Given the description of an element on the screen output the (x, y) to click on. 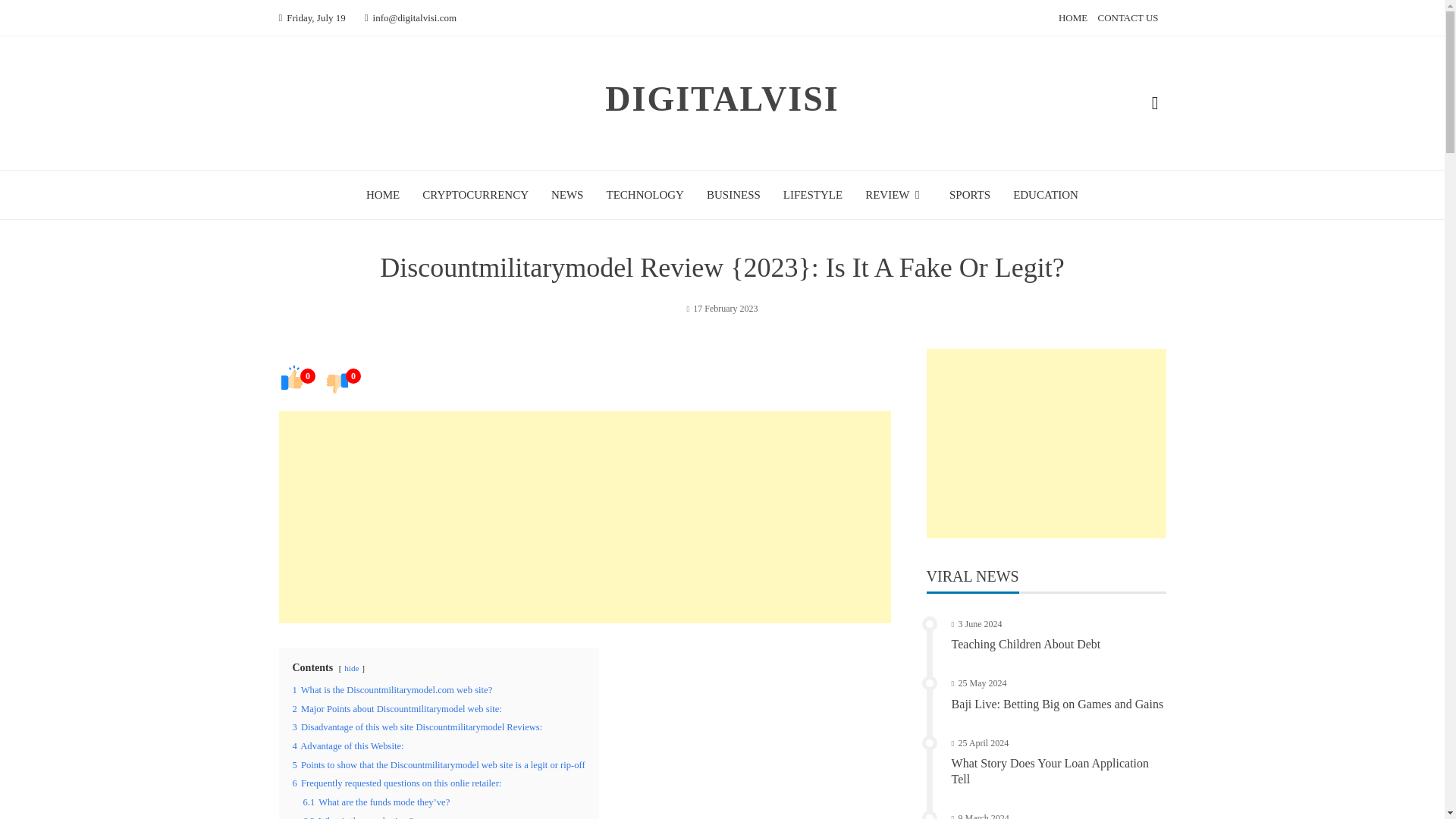
4 Advantage of this Website: (348, 746)
DIGITALVISI (721, 98)
HOME (382, 194)
TECHNOLOGY (644, 194)
EDUCATION (1045, 194)
6.2 What is the supply time? (357, 817)
SPORTS (969, 194)
BUSINESS (733, 194)
6 Frequently requested questions on this onlie retailer: (397, 783)
2 Major Points about Discountmilitarymodel web site: (397, 708)
HOME (1072, 17)
CRYPTOCURRENCY (475, 194)
1 What is the Discountmilitarymodel.com web site? (392, 689)
hide (350, 667)
